Given the description of an element on the screen output the (x, y) to click on. 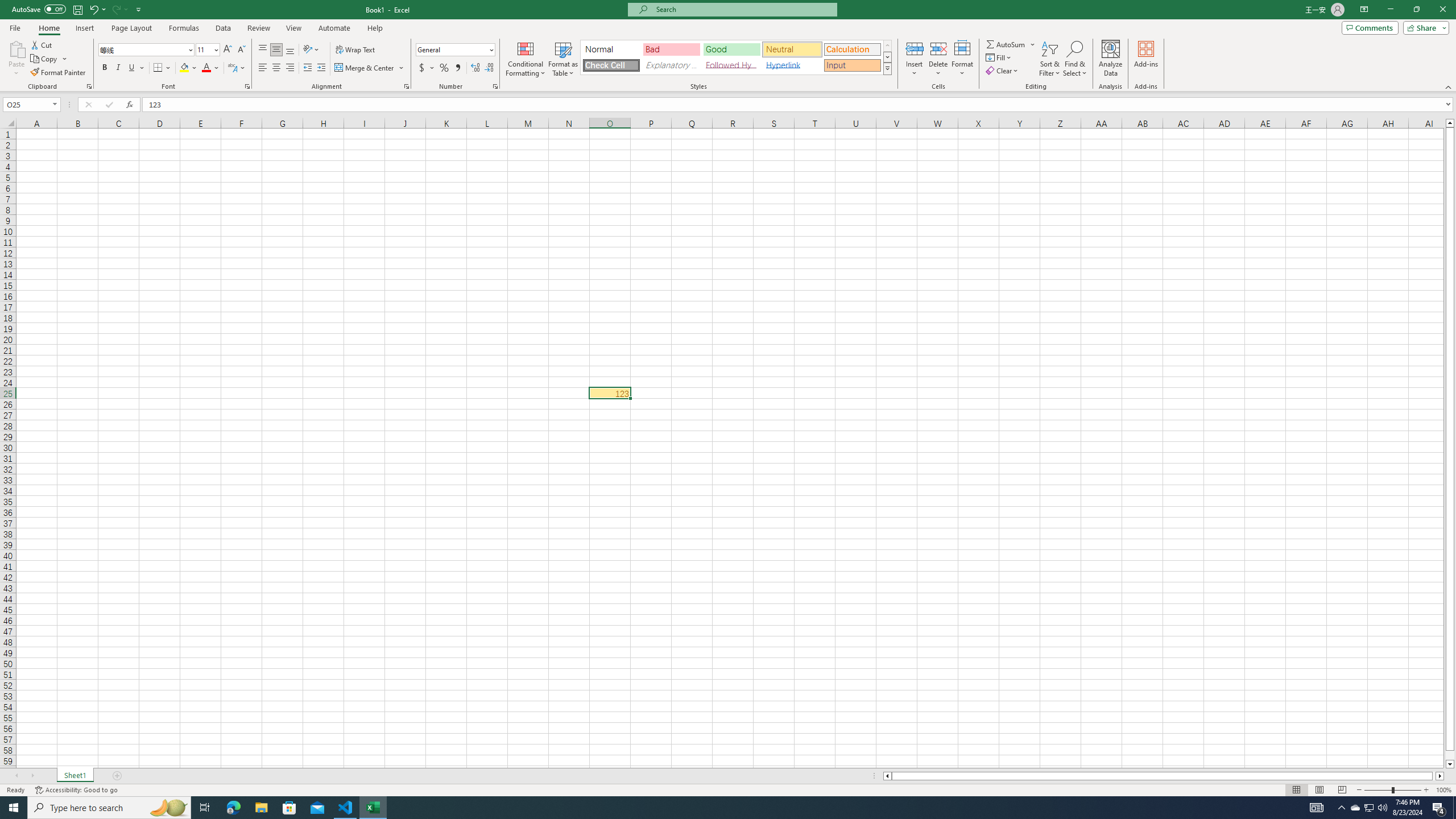
Office Clipboard... (88, 85)
Formula Bar (799, 104)
Collapse the Ribbon (1448, 86)
AutomationID: CellStylesGallery (736, 57)
Copy (49, 58)
Zoom Out (1377, 790)
Calculation (852, 49)
Top Align (262, 49)
File Tab (15, 27)
Zoom In (1426, 790)
Center (276, 67)
